Given the description of an element on the screen output the (x, y) to click on. 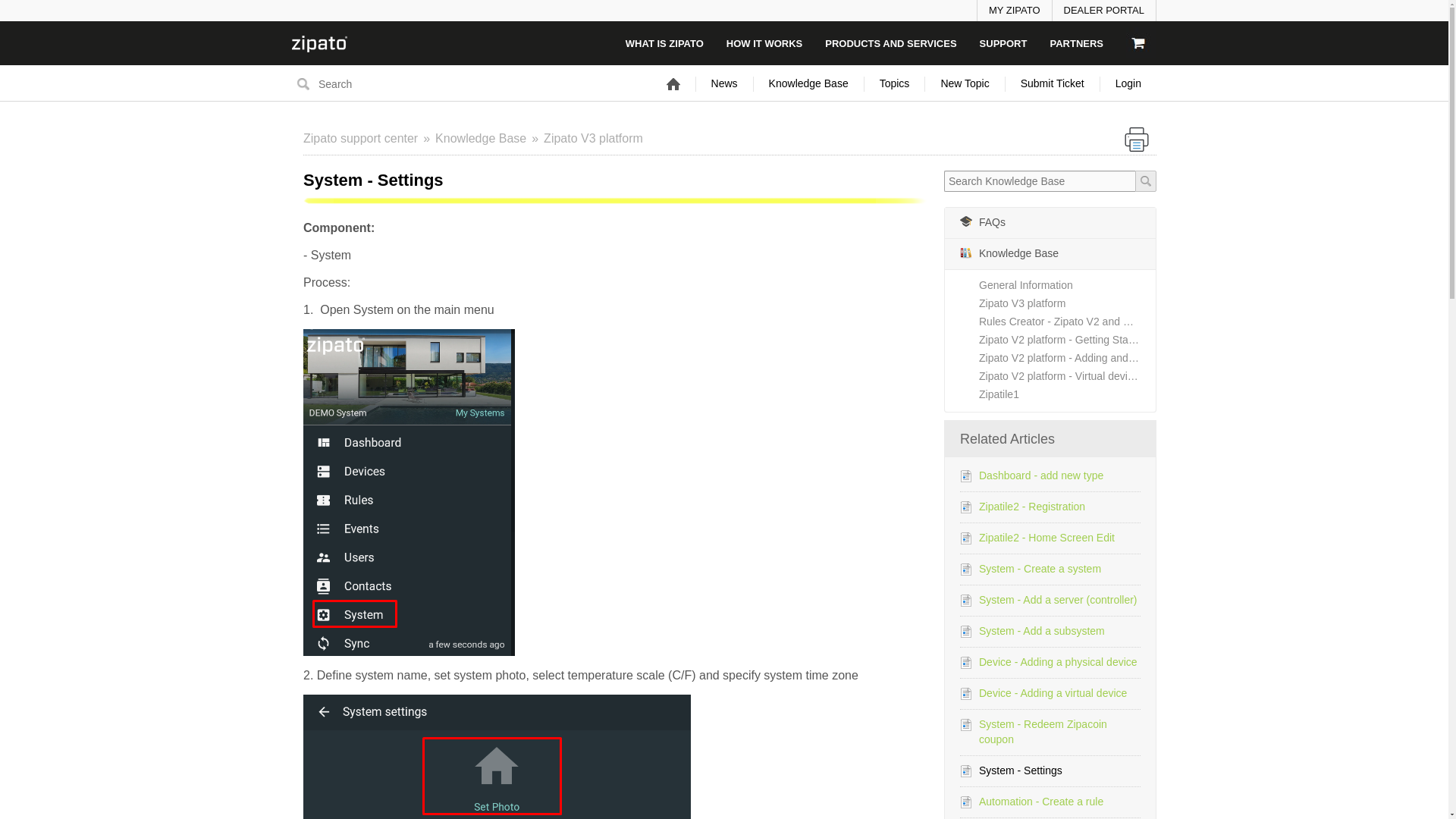
Device - Adding a physical device (1057, 662)
Zipato support center (368, 137)
Zipato V2 platform - Adding and Managing New Devices (1067, 357)
Zipato V3 platform (593, 137)
News (724, 83)
New Topic (964, 83)
Topics (894, 83)
MY ZIPATO (1013, 10)
Submit Ticket (1052, 83)
FAQs (1050, 223)
